Given the description of an element on the screen output the (x, y) to click on. 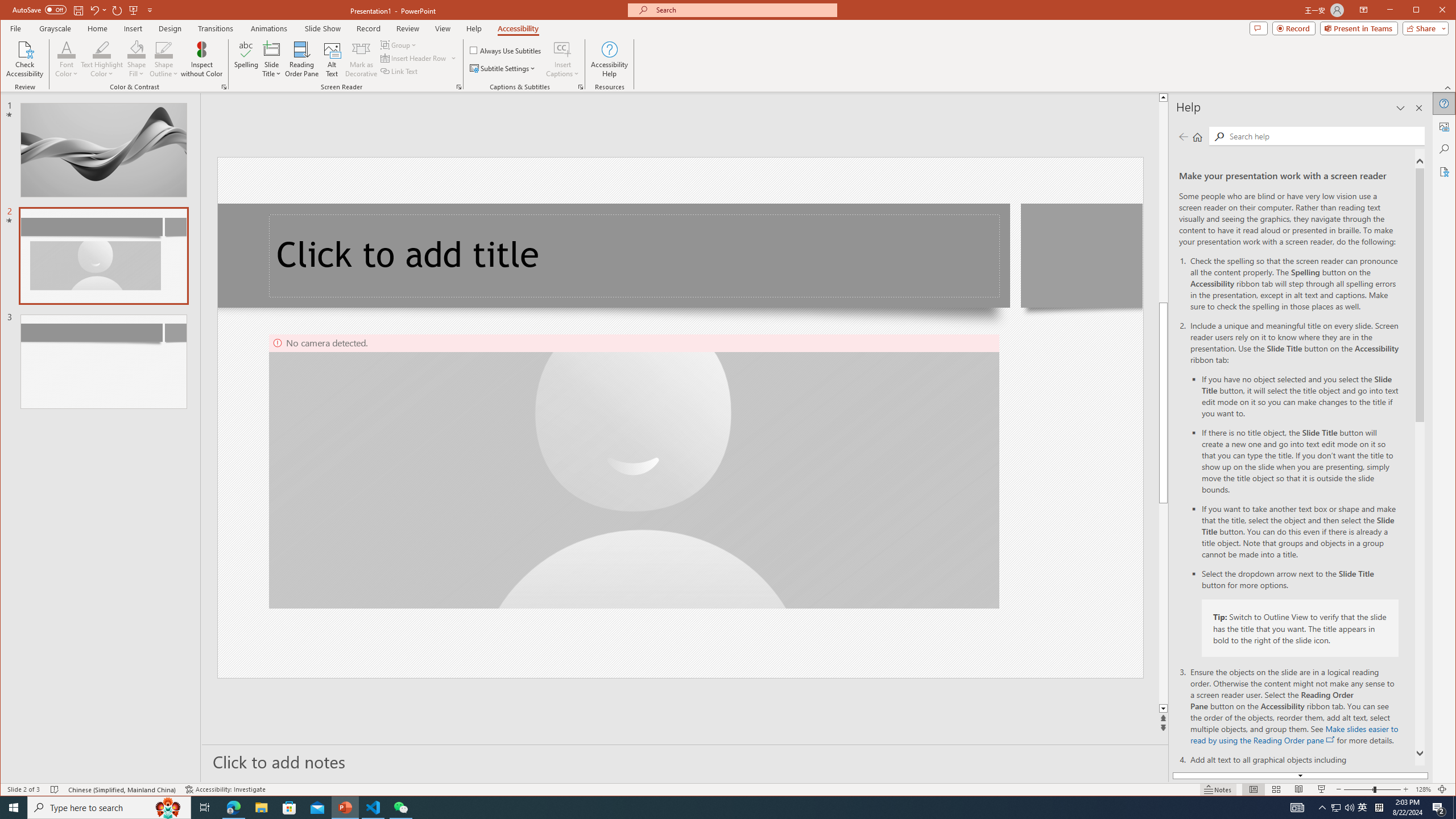
Spelling... (246, 59)
Grayscale (55, 28)
Class: MsoCommandBar (728, 789)
Font Color (66, 59)
Insert Captions (562, 48)
Microsoft Store (289, 807)
Running applications (707, 807)
Page down (1162, 603)
